Given the description of an element on the screen output the (x, y) to click on. 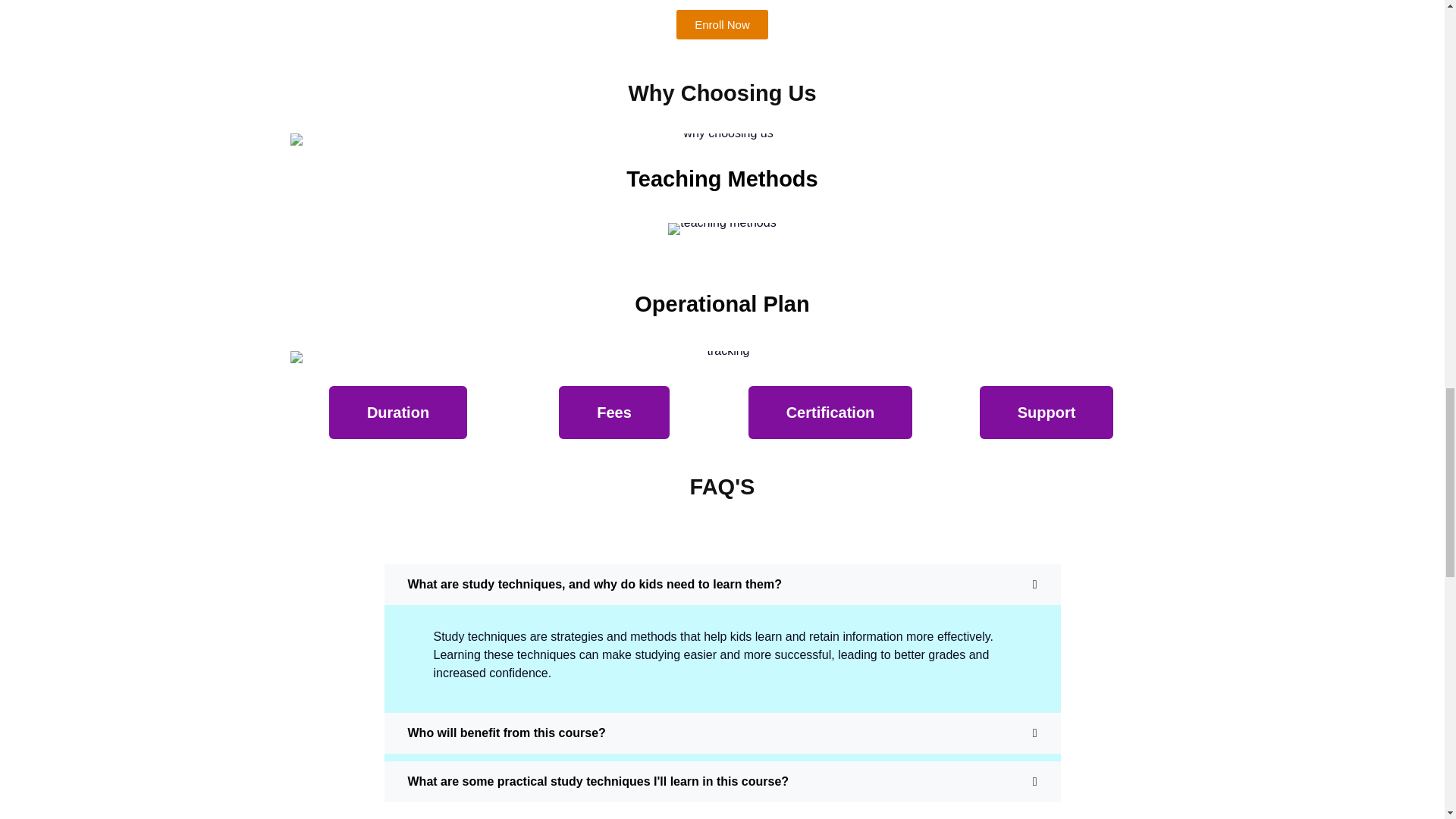
Fees (614, 411)
Duration (398, 411)
Enroll Now (722, 24)
Who will benefit from this course? (721, 732)
Support (1046, 411)
Certification (830, 411)
